Given the description of an element on the screen output the (x, y) to click on. 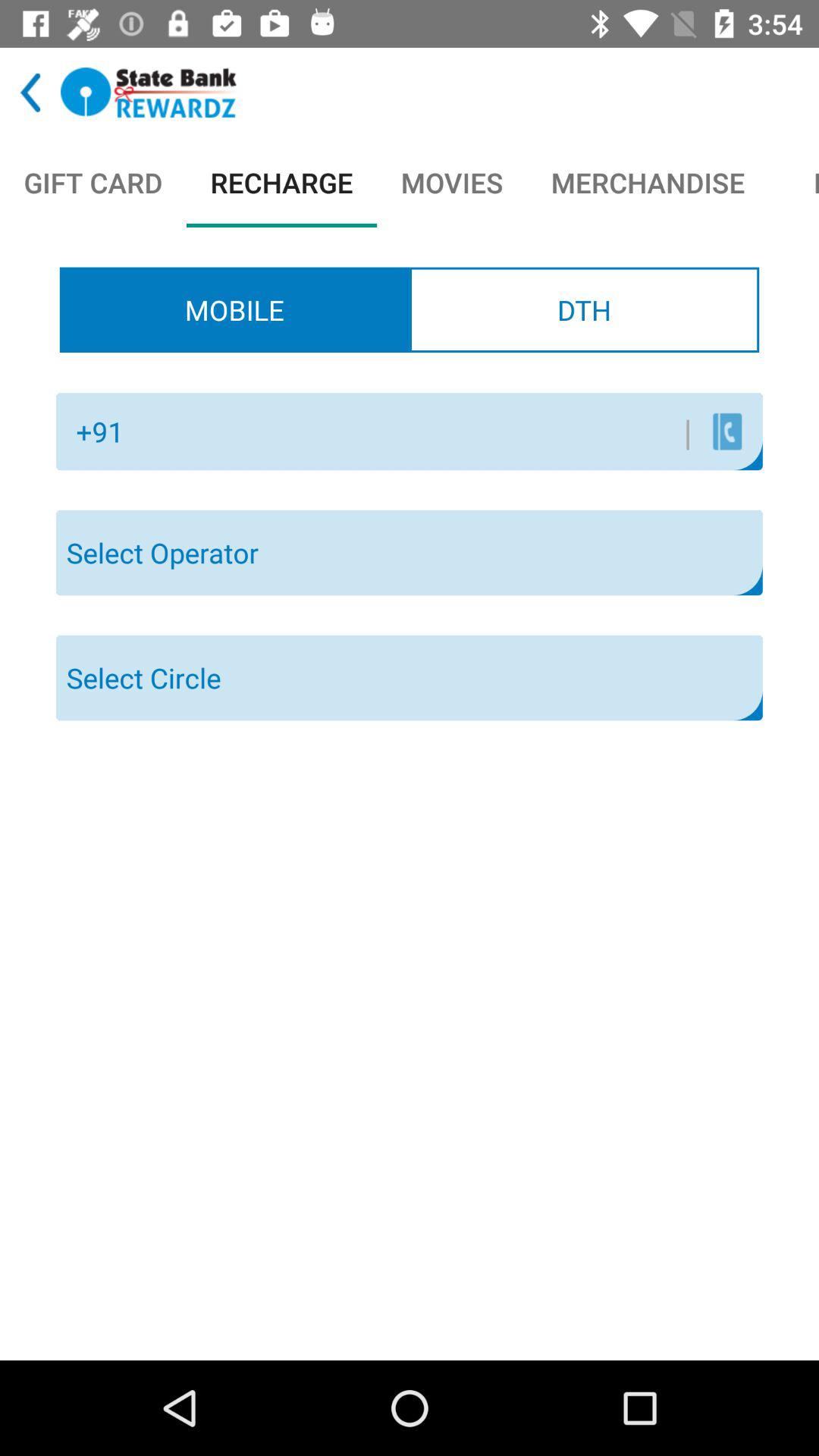
go back (30, 92)
